Given the description of an element on the screen output the (x, y) to click on. 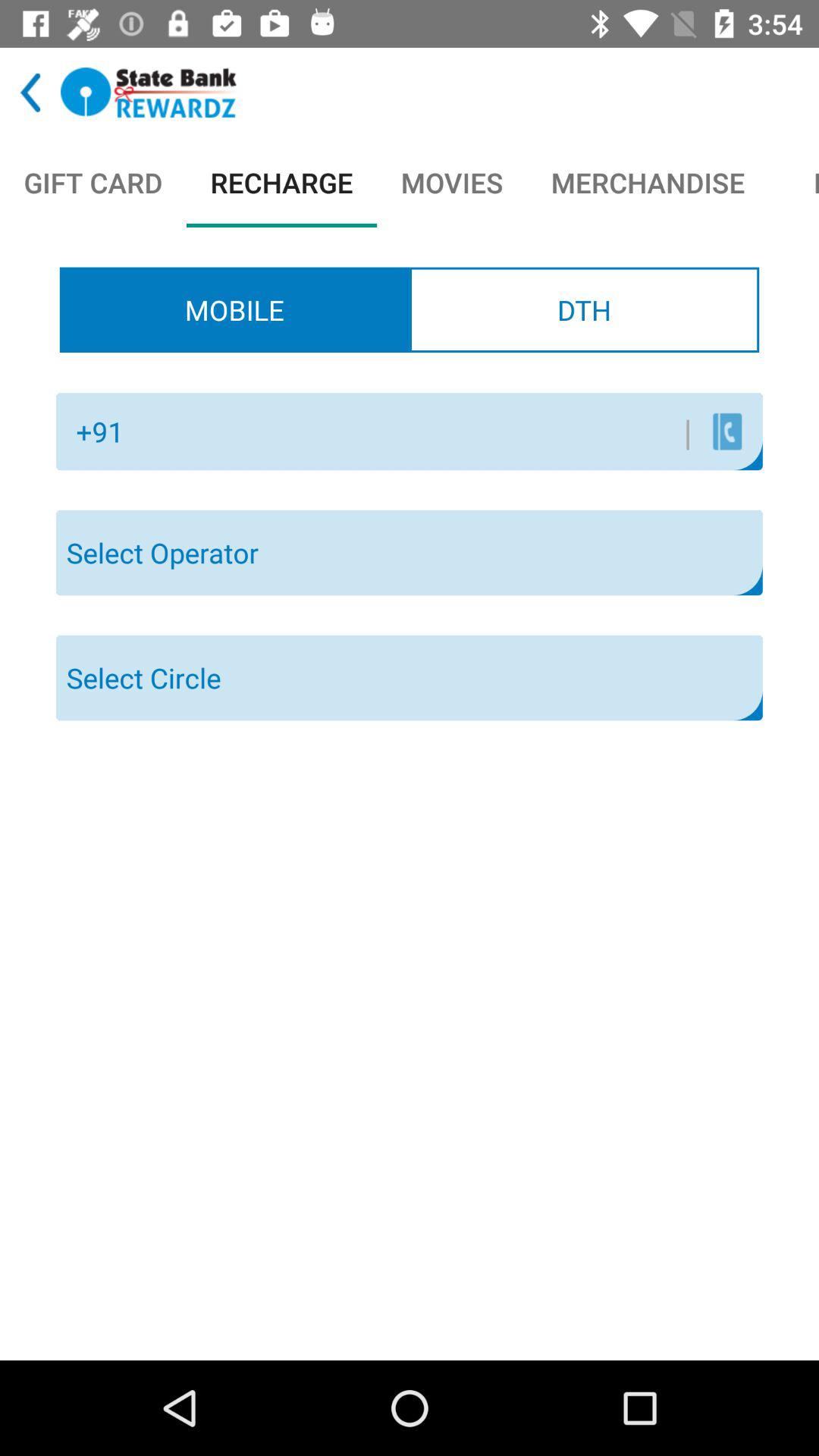
go back (30, 92)
